Given the description of an element on the screen output the (x, y) to click on. 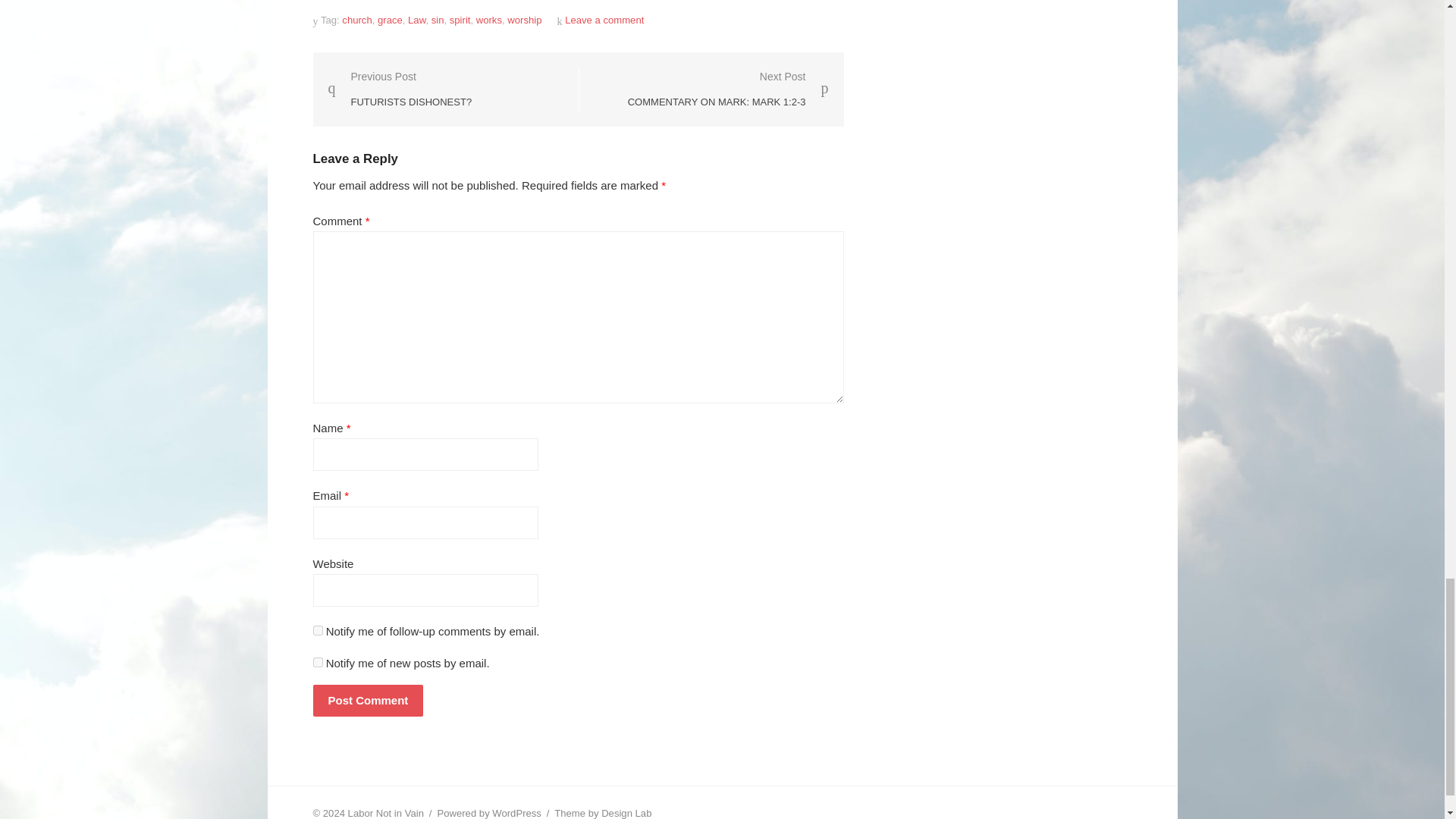
Law (416, 19)
subscribe (317, 630)
grace (390, 19)
sin (437, 19)
spirit (459, 19)
subscribe (317, 661)
church (356, 19)
Post Comment (368, 700)
